Given the description of an element on the screen output the (x, y) to click on. 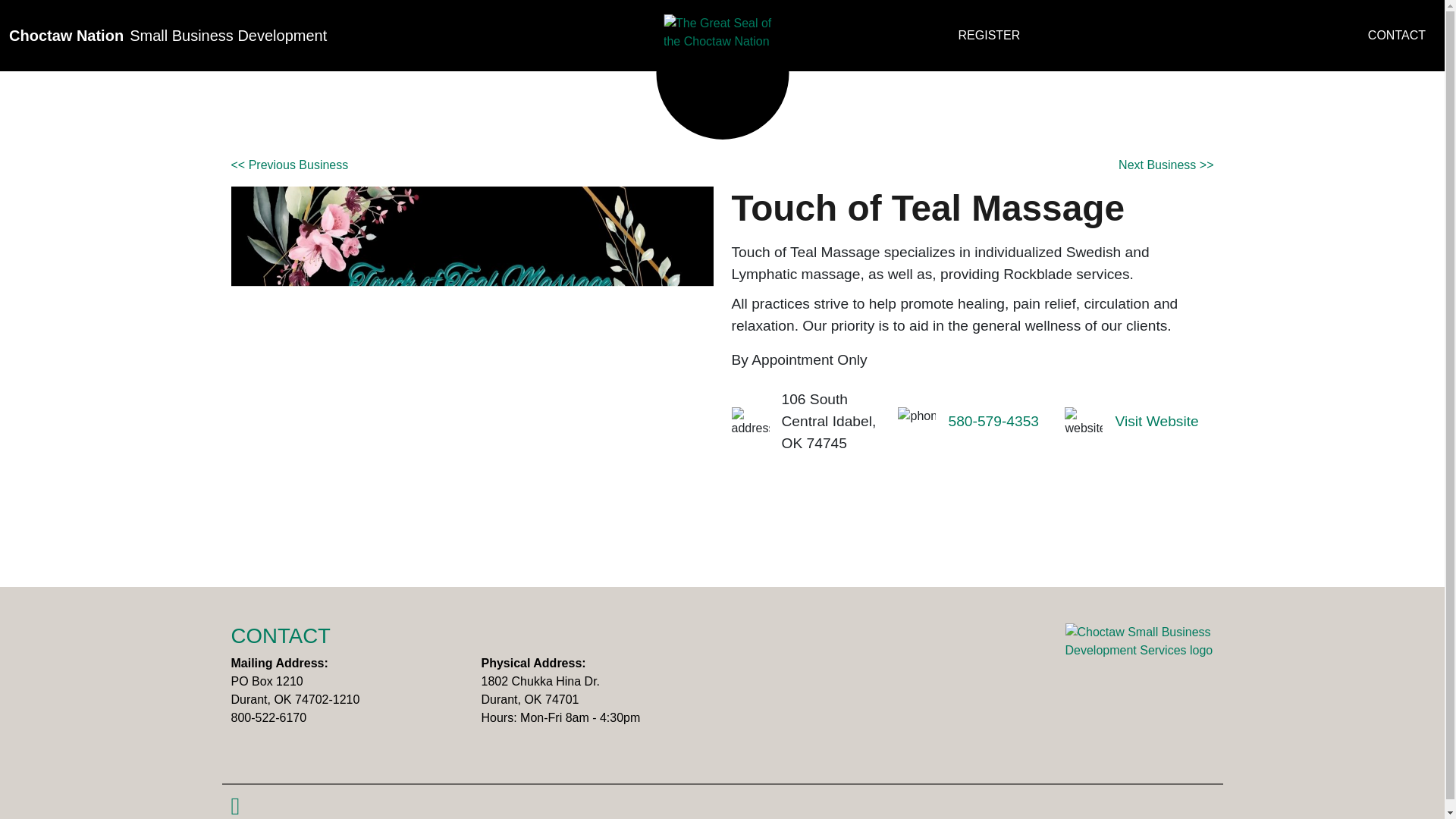
BUSINESS CENTERS (467, 35)
Visit Website (1211, 35)
REGISTER (1156, 425)
CONTACT (990, 35)
RESOURCES (1396, 35)
580-579-4353 (1082, 35)
ABOUT (993, 425)
